Given the description of an element on the screen output the (x, y) to click on. 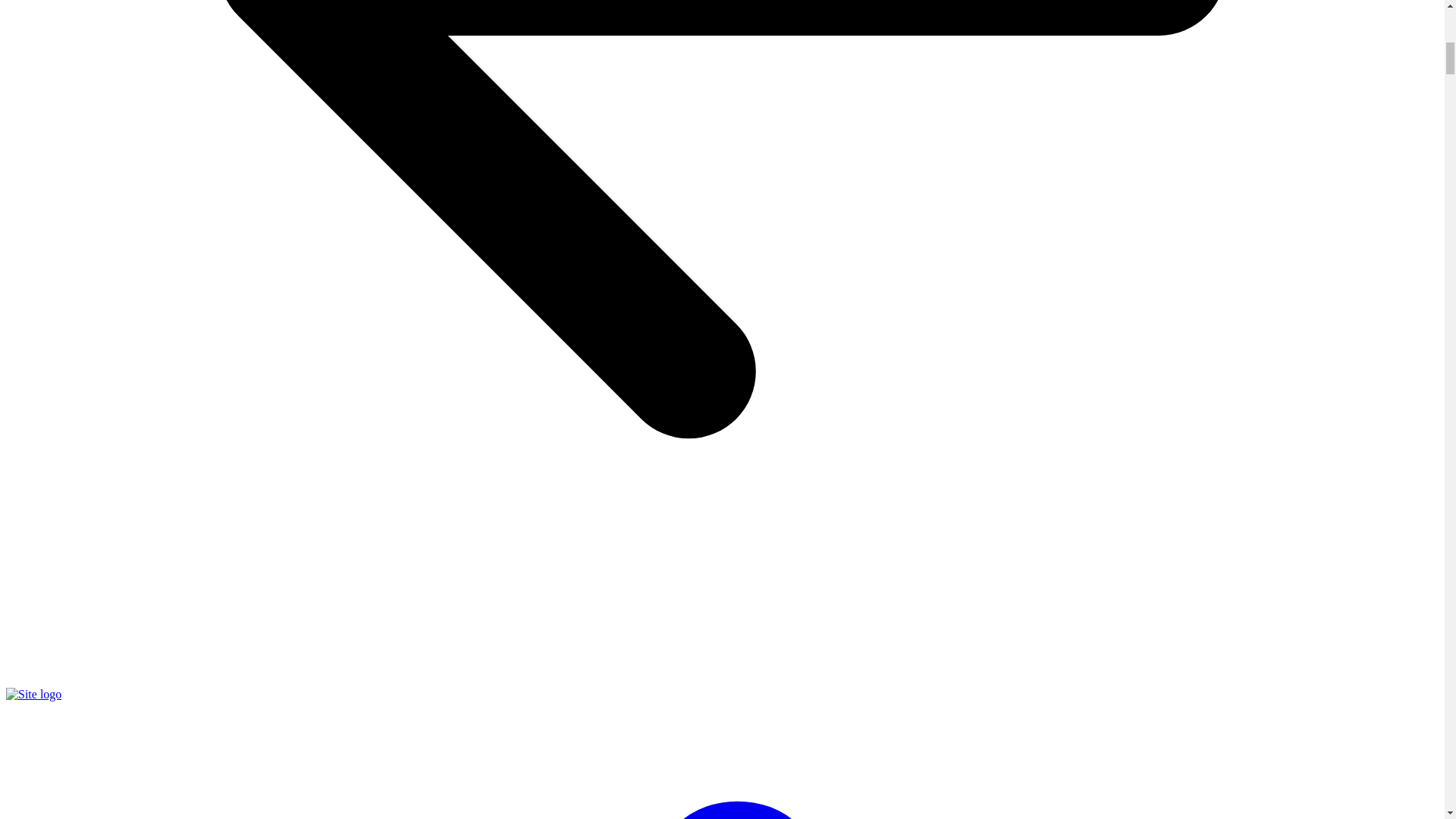
Uhiring (33, 694)
